Given the description of an element on the screen output the (x, y) to click on. 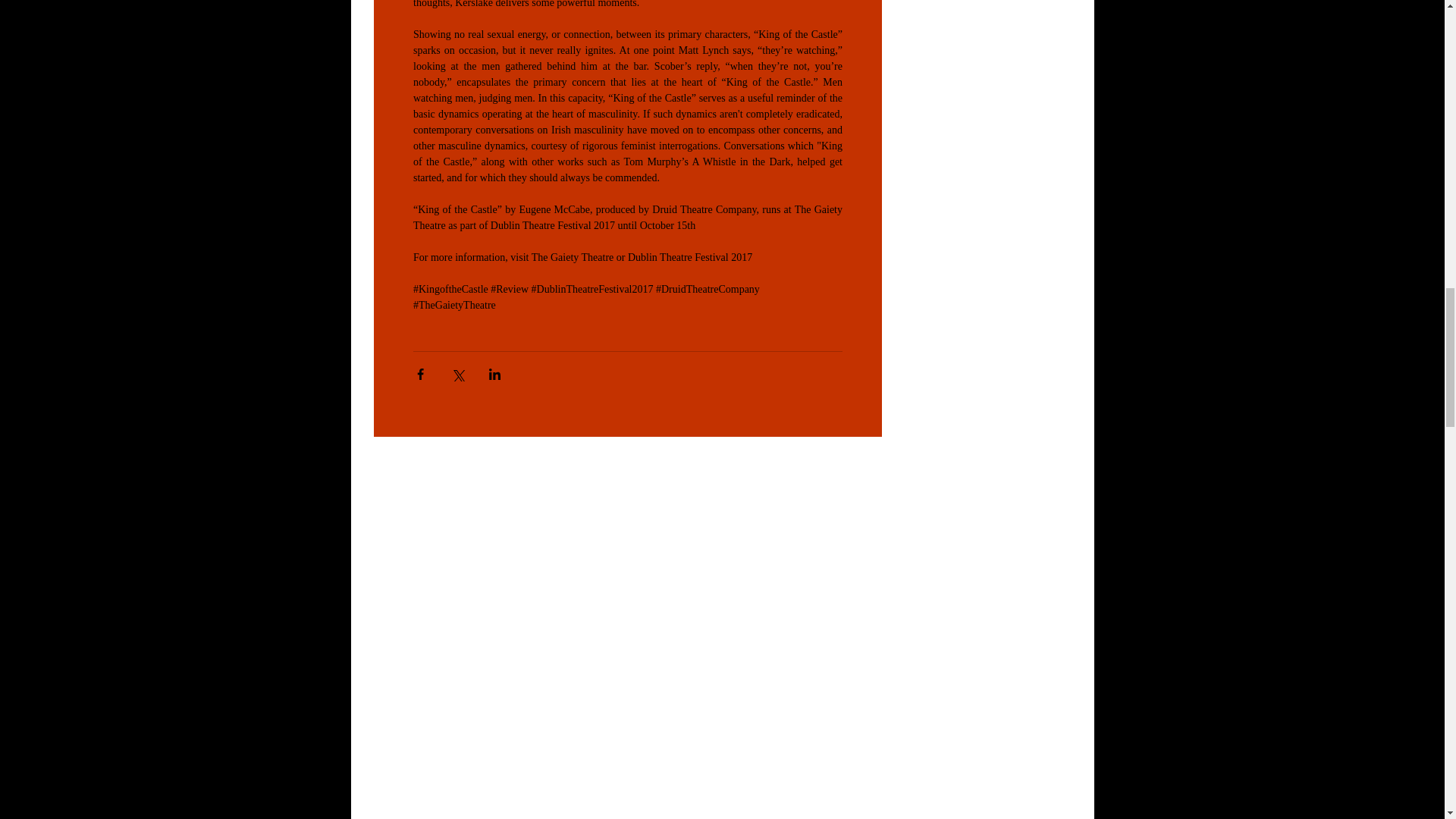
The Gaiety Theatre (571, 256)
Dublin Theatre Festival 2017 (689, 256)
